Given the description of an element on the screen output the (x, y) to click on. 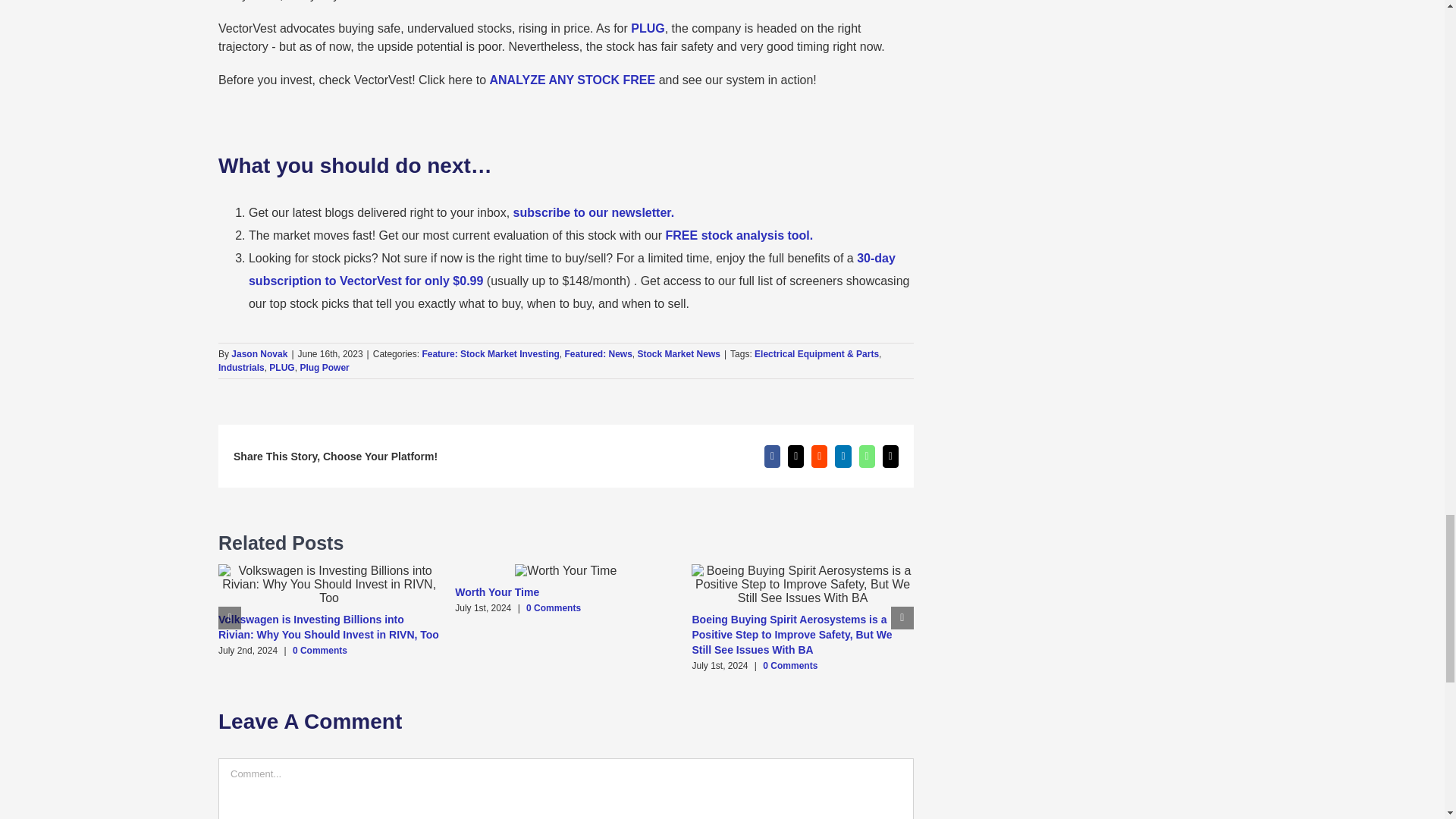
Worth Your Time (496, 592)
Posts by Jason Novak (258, 353)
